Given the description of an element on the screen output the (x, y) to click on. 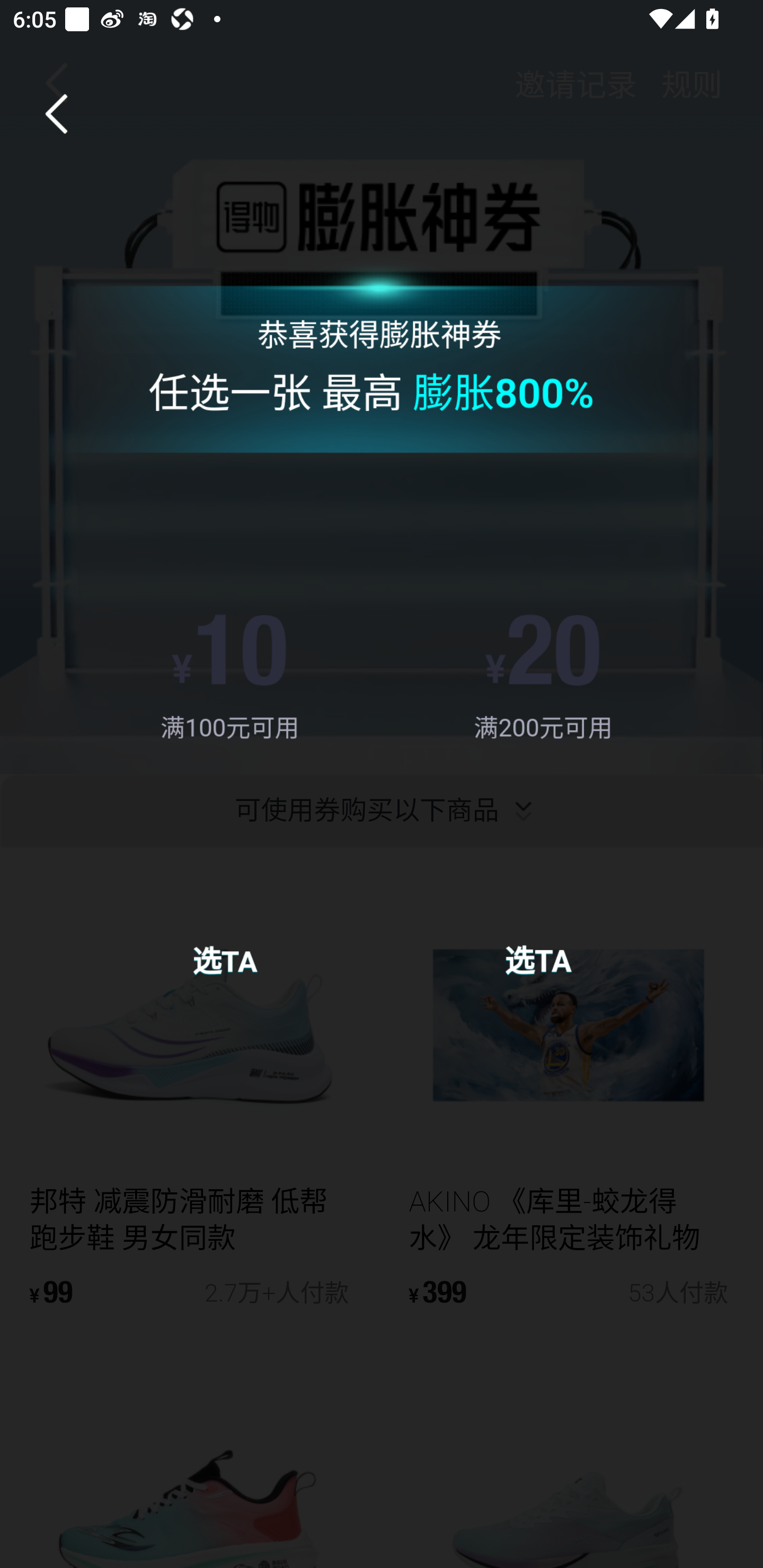
邦特 减震防滑耐磨 低帮 跑步鞋 男女同款 ¥ 99 2.7万+人付款 (189, 1095)
